Given the description of an element on the screen output the (x, y) to click on. 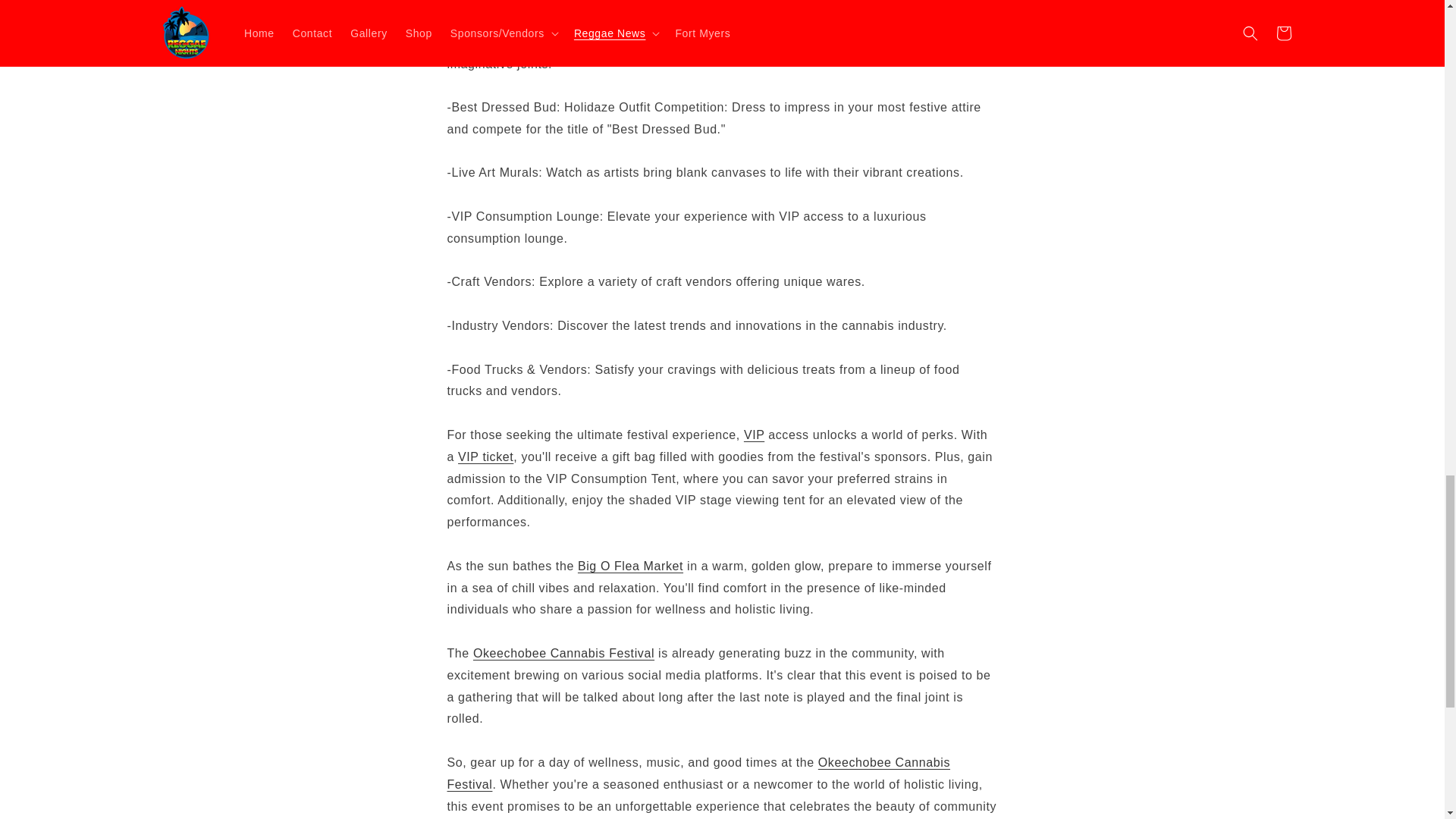
Stay Lifted Events VIP Ticket Purchase (754, 434)
Eventbrite Page (563, 653)
Eventbrite Page (485, 456)
Eventbrite Page (698, 773)
Big O Flea Market Facebook Page (630, 565)
